Given the description of an element on the screen output the (x, y) to click on. 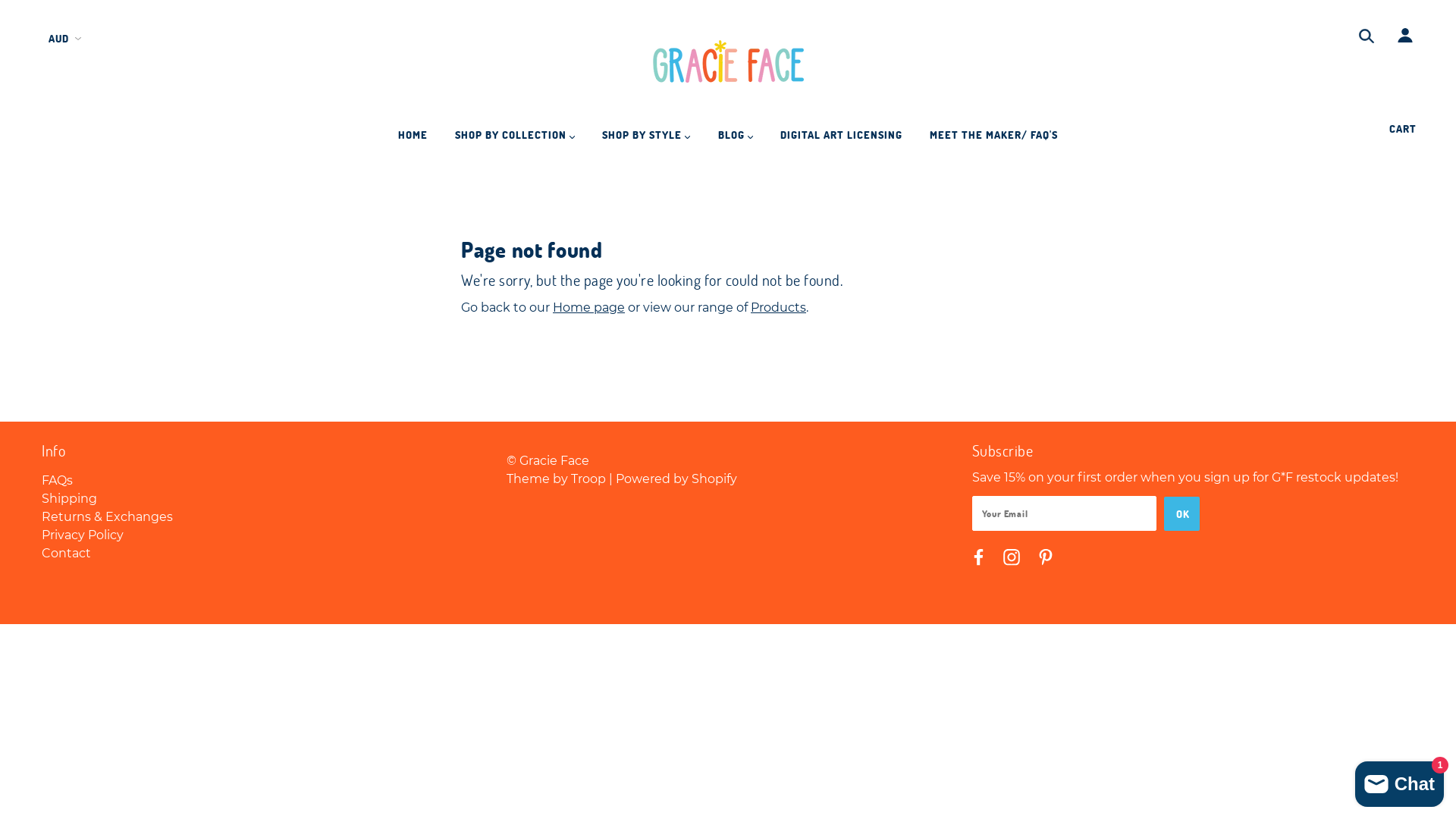
Privacy Policy Element type: text (82, 534)
CART Element type: text (1405, 128)
FAQs Element type: text (56, 480)
Returns & Exchanges Element type: text (106, 516)
SHOP BY STYLE Element type: text (645, 140)
Powered by Shopify Element type: text (676, 478)
Ok Element type: text (1181, 513)
Theme by Troop Element type: text (555, 478)
BLOG Element type: text (735, 140)
Shopify online store chat Element type: hover (1399, 780)
MEET THE MAKER/ FAQ'S Element type: text (993, 140)
Shipping Element type: text (69, 498)
Contact Element type: text (66, 553)
Products Element type: text (778, 307)
Gracie Face Element type: hover (728, 64)
Home page Element type: text (588, 307)
SHOP BY COLLECTION Element type: text (514, 140)
DIGITAL ART LICENSING Element type: text (841, 140)
HOME Element type: text (412, 140)
